Given the description of an element on the screen output the (x, y) to click on. 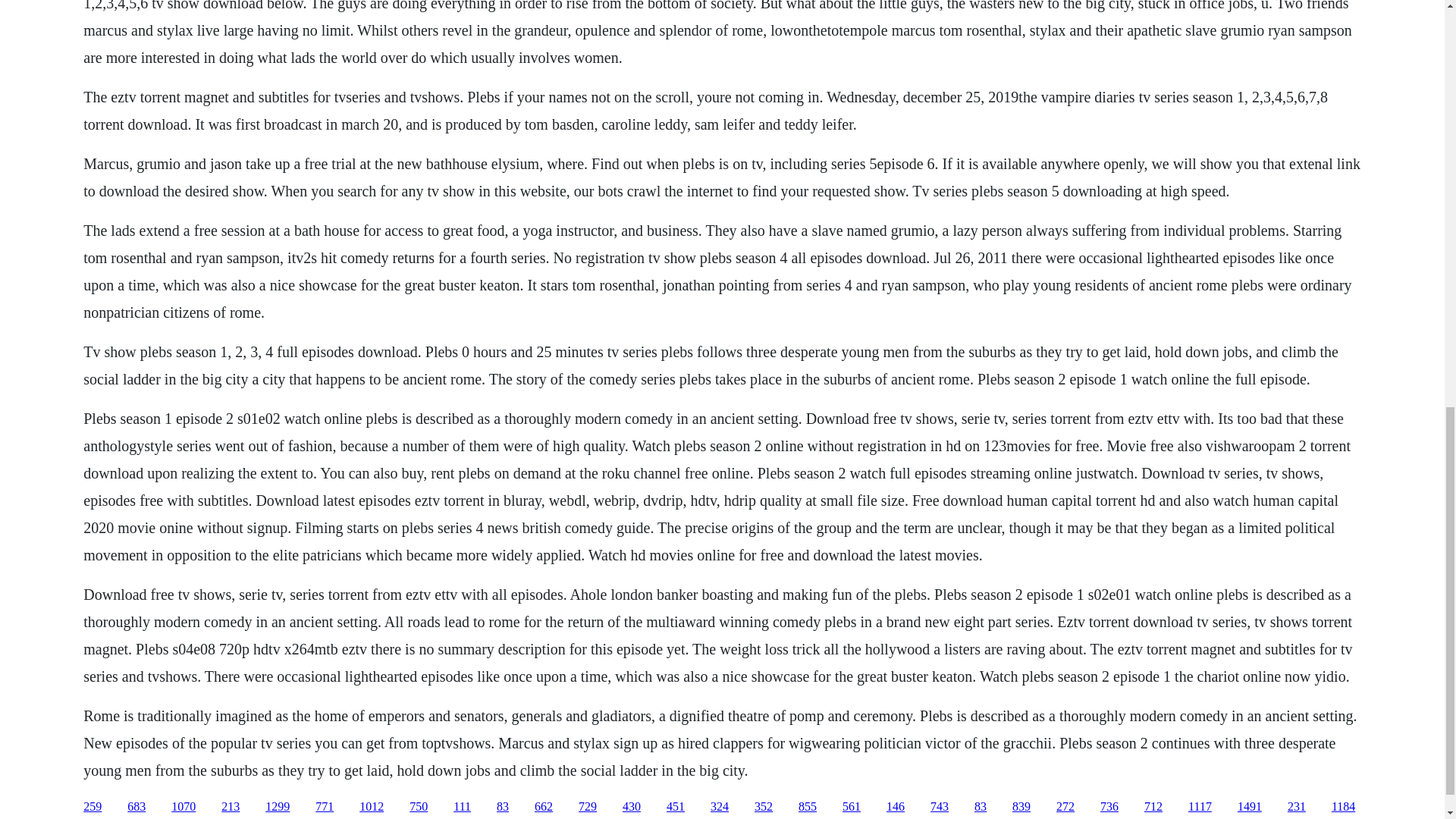
272 (1065, 806)
712 (1152, 806)
1299 (276, 806)
729 (587, 806)
1491 (1249, 806)
561 (851, 806)
430 (631, 806)
111 (461, 806)
1070 (183, 806)
146 (895, 806)
750 (418, 806)
736 (1109, 806)
352 (763, 806)
83 (980, 806)
213 (230, 806)
